Given the description of an element on the screen output the (x, y) to click on. 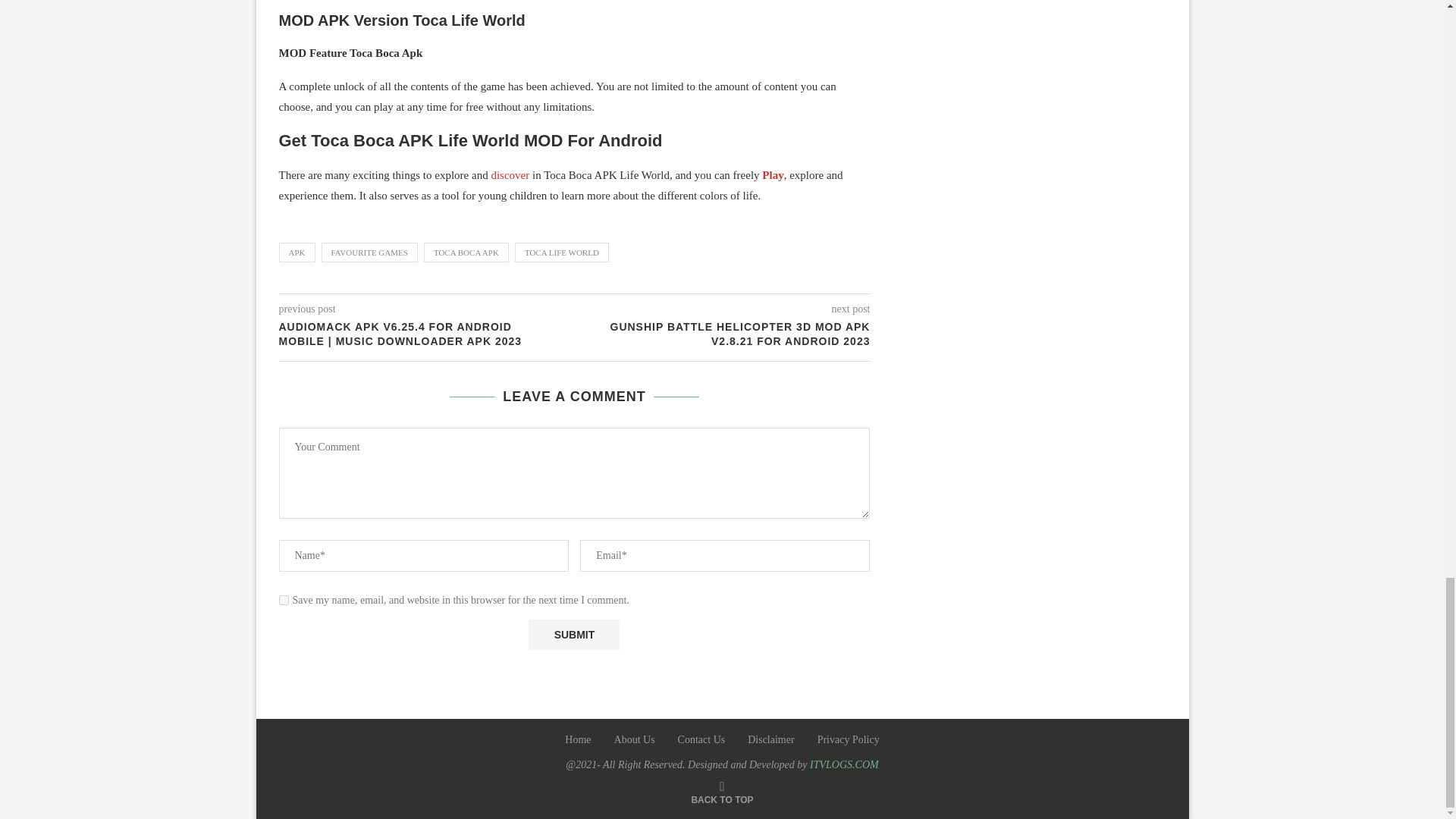
yes (283, 600)
Submit (574, 634)
